Given the description of an element on the screen output the (x, y) to click on. 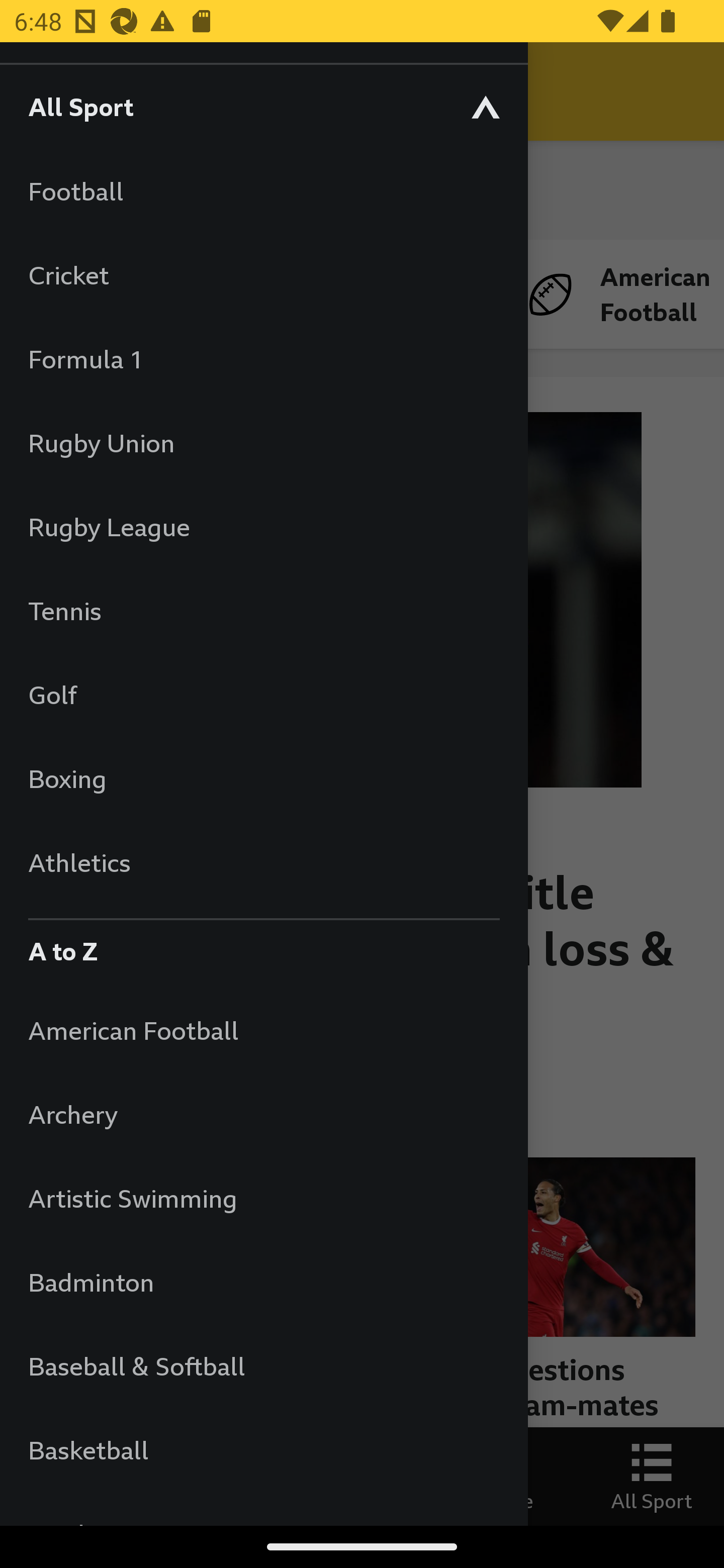
All Sport (263, 105)
Football (263, 190)
Cricket (263, 274)
Formula 1 (263, 358)
Rugby Union (263, 441)
Rugby League (263, 526)
Tennis (263, 609)
Golf (263, 694)
Boxing (263, 778)
Athletics (263, 862)
A to Z (263, 945)
American Football (263, 1029)
Archery (263, 1114)
Artistic Swimming (263, 1197)
Badminton (263, 1282)
Baseball & Softball (263, 1365)
Basketball (263, 1450)
